Given the description of an element on the screen output the (x, y) to click on. 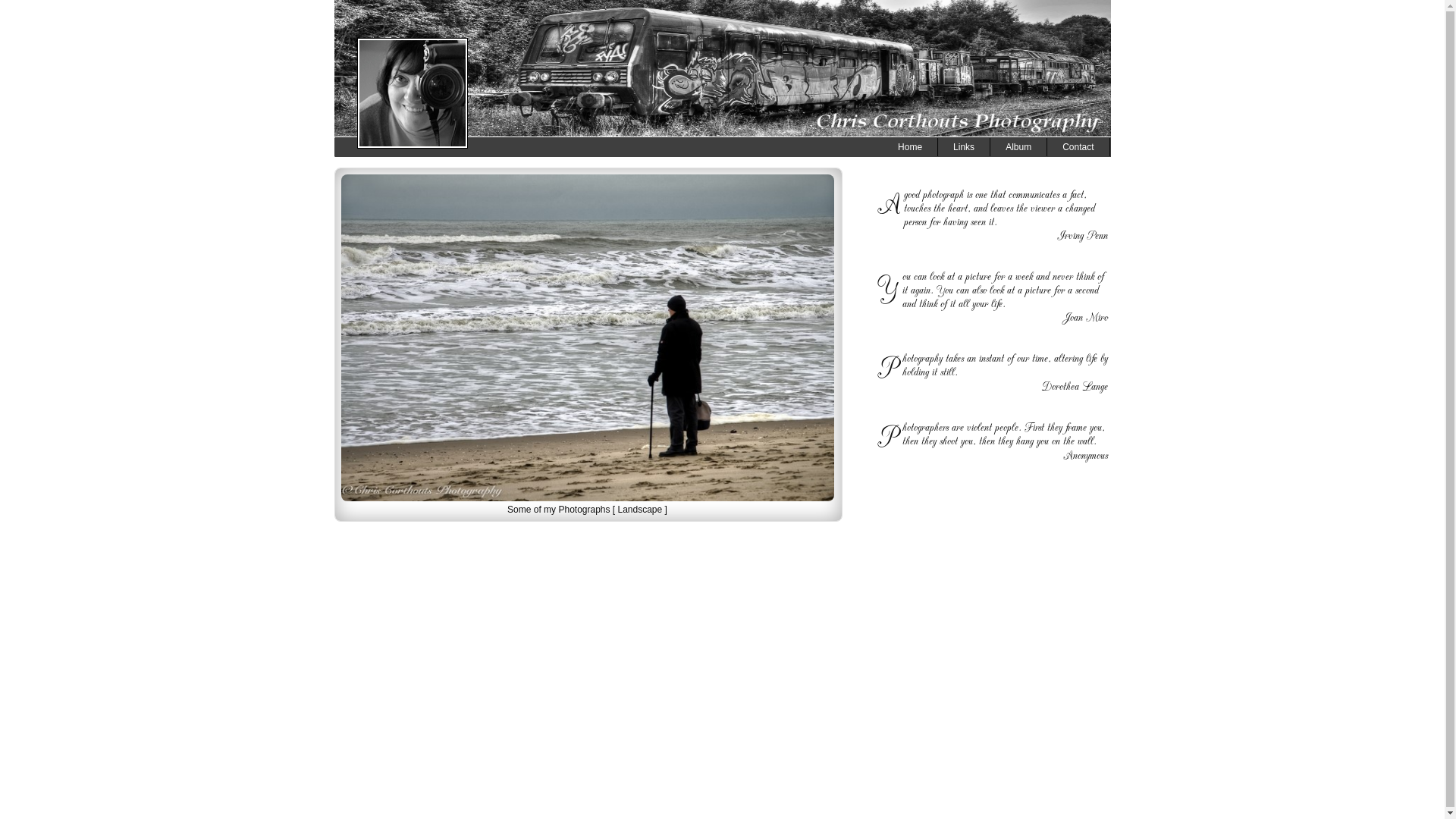
Contact Element type: text (1078, 147)
Links Element type: text (964, 147)
Album Element type: text (1018, 147)
Home Element type: text (910, 147)
